Given the description of an element on the screen output the (x, y) to click on. 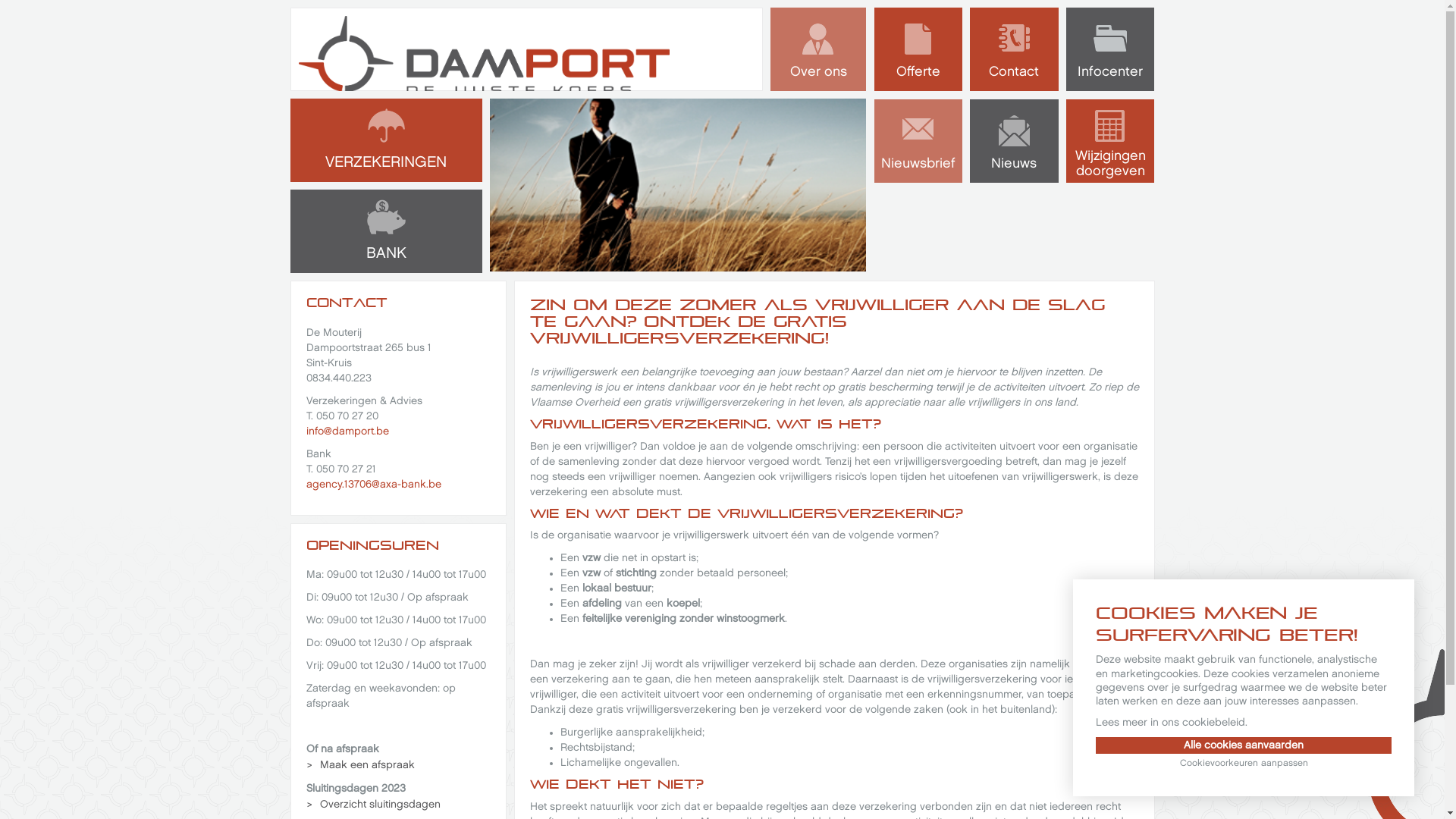
agency.13706@axa-bank.be Element type: text (373, 484)
Over ons Element type: text (818, 49)
Maak een afspraak Element type: text (360, 764)
Nieuwsbrief Element type: text (917, 140)
Cookievoorkeuren aanpassen Element type: text (1243, 763)
Overzicht sluitingsdagen Element type: text (373, 804)
Alle cookies aanvaarden Element type: text (1243, 745)
info@damport.be Element type: text (347, 431)
Infocenter Element type: text (1110, 49)
ons cookiebeleid. Element type: text (1204, 722)
Contact Element type: text (1013, 49)
Offerte Element type: text (917, 49)
Wijzigingen doorgeven Element type: text (1110, 140)
BANK Element type: text (385, 231)
VERZEKERINGEN Element type: text (385, 140)
Nieuws Element type: text (1013, 140)
